Given the description of an element on the screen output the (x, y) to click on. 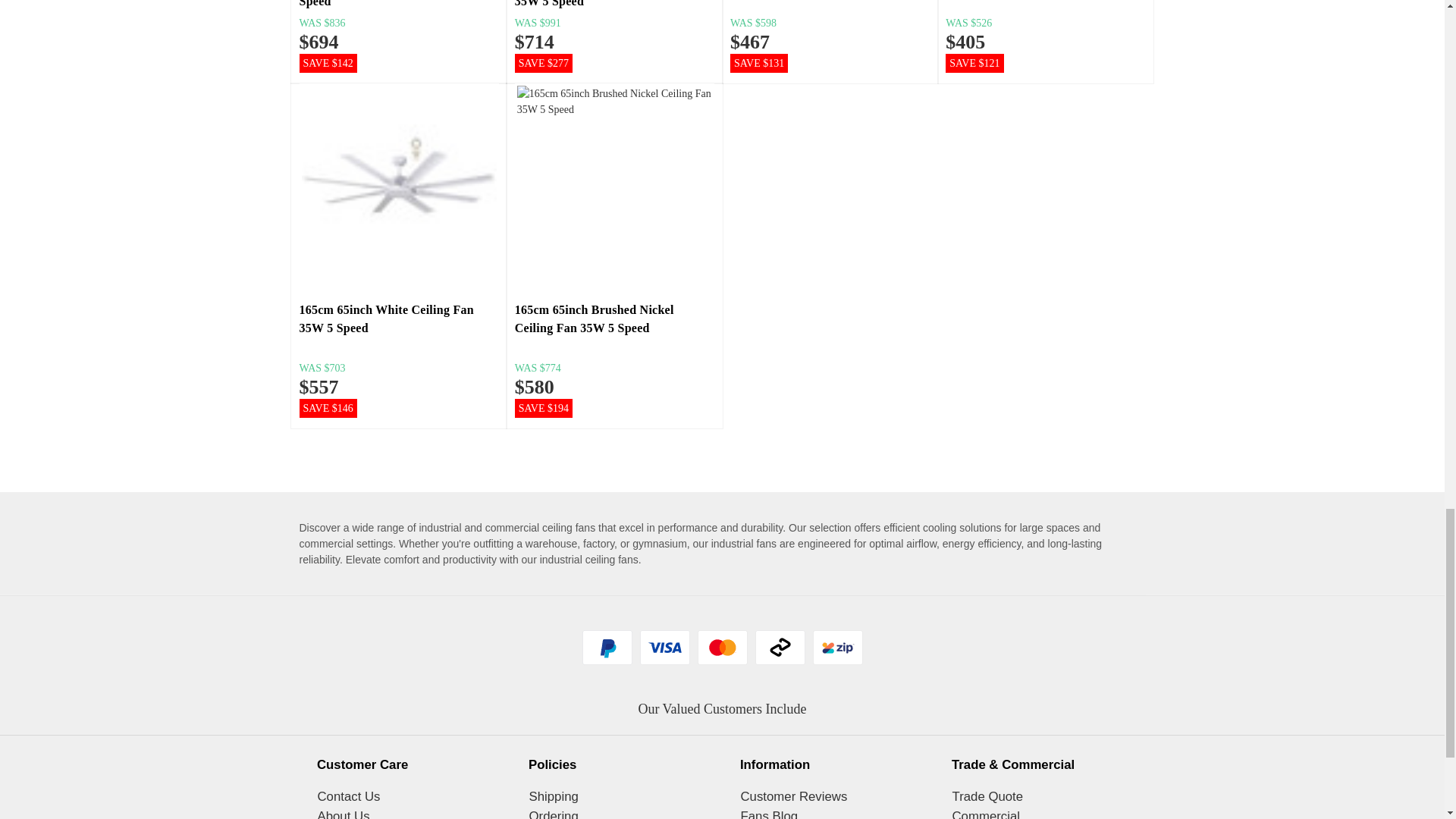
165cm 65inch White Ceiling Fan 35W 5 Speed (398, 182)
165cm 65inch Brushed Nickel Ceiling Fan 35W 5 Speed (613, 187)
